Given the description of an element on the screen output the (x, y) to click on. 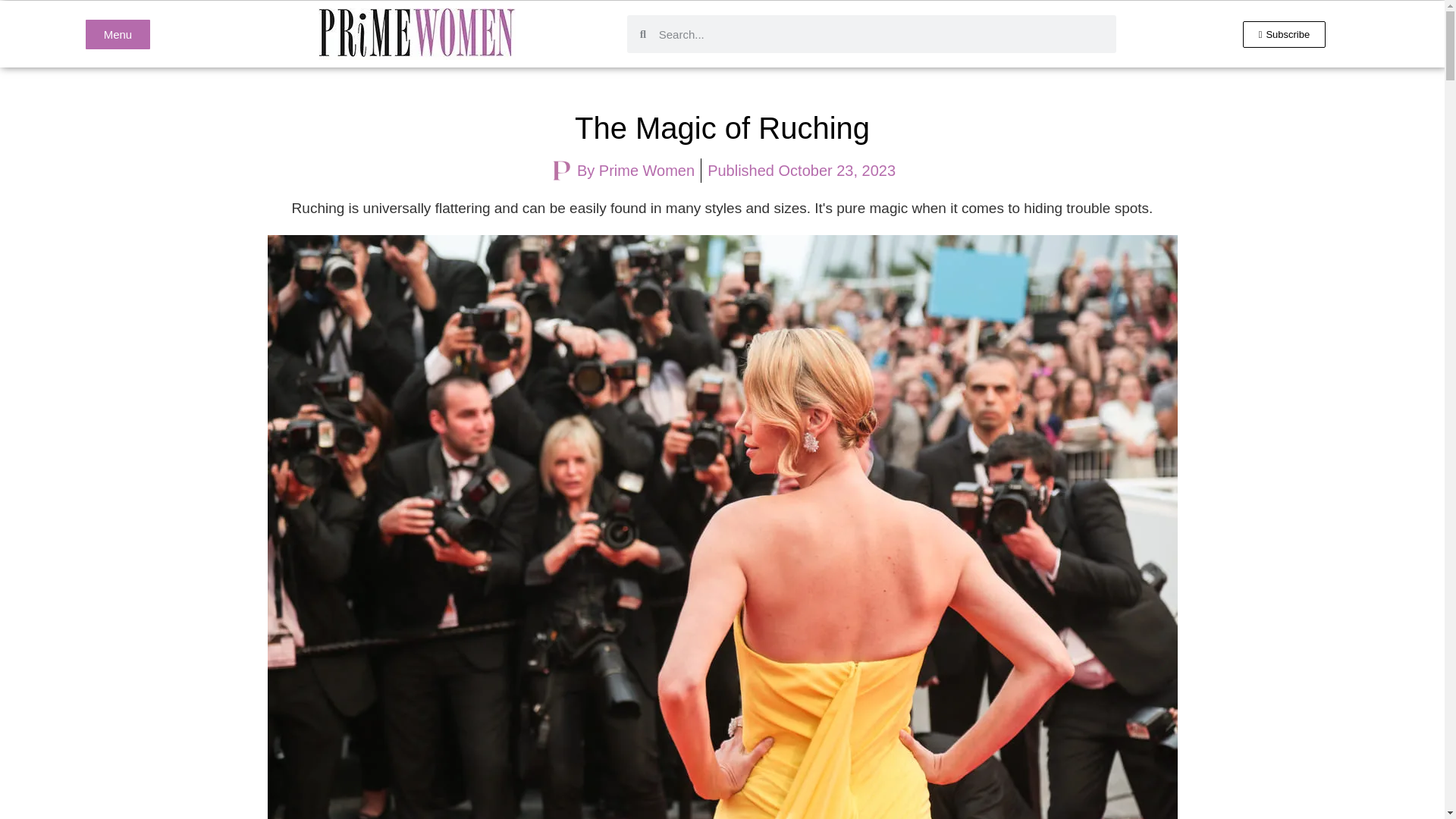
Subscribe (1284, 34)
Published October 23, 2023 (801, 169)
By Prime Women (621, 170)
Menu (118, 34)
